Given the description of an element on the screen output the (x, y) to click on. 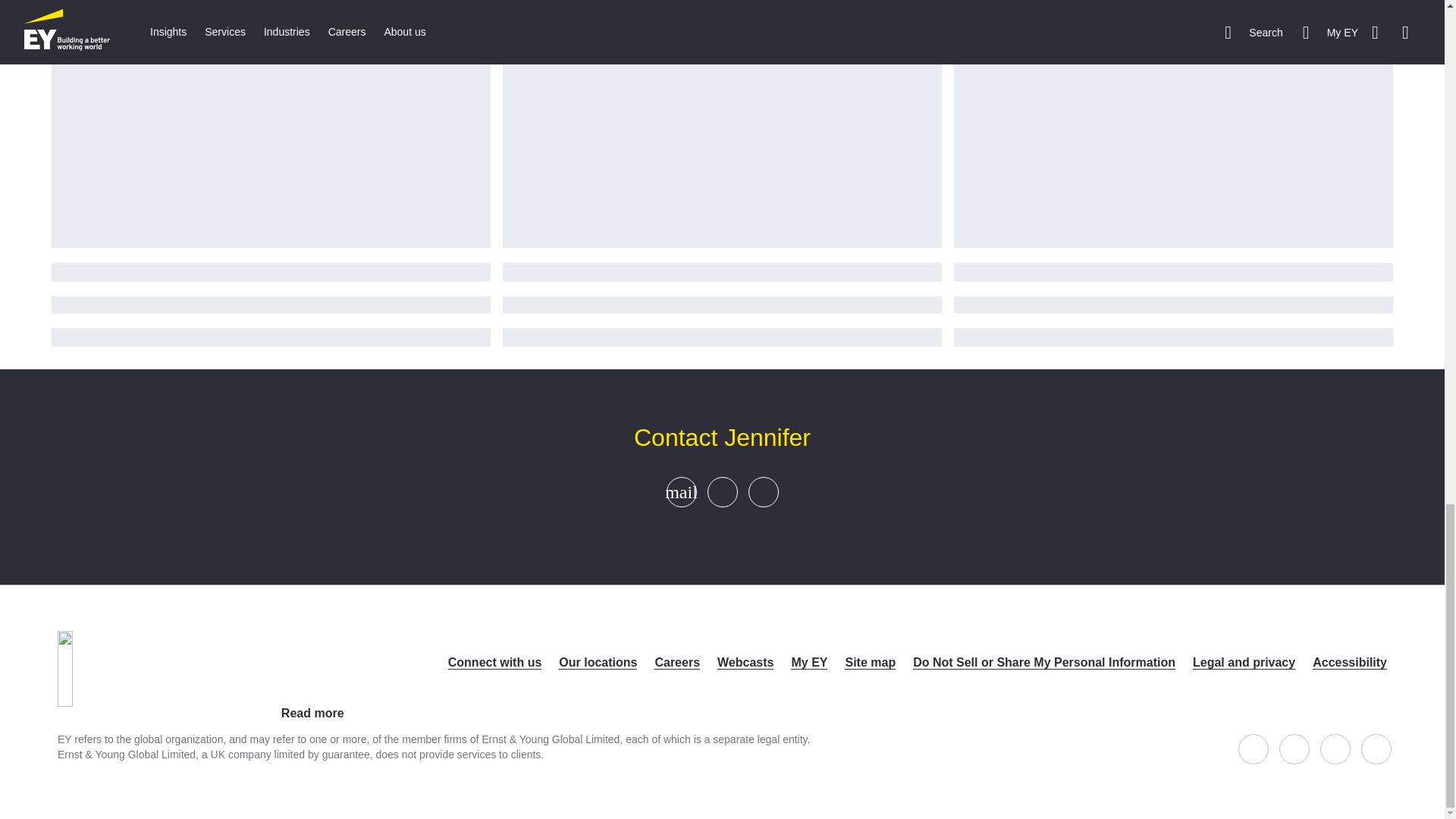
Open LinkedIn profile of Jennifer Leitsch (761, 491)
Open LinkedIn profile (1335, 748)
Open Facebook profile (1252, 748)
Open Twitter profile of Jennifer Leitsch (721, 491)
Open Youtube profile (1376, 748)
Send e-mail to Jennifer Leitsch (681, 492)
Open X profile (1294, 748)
